Given the description of an element on the screen output the (x, y) to click on. 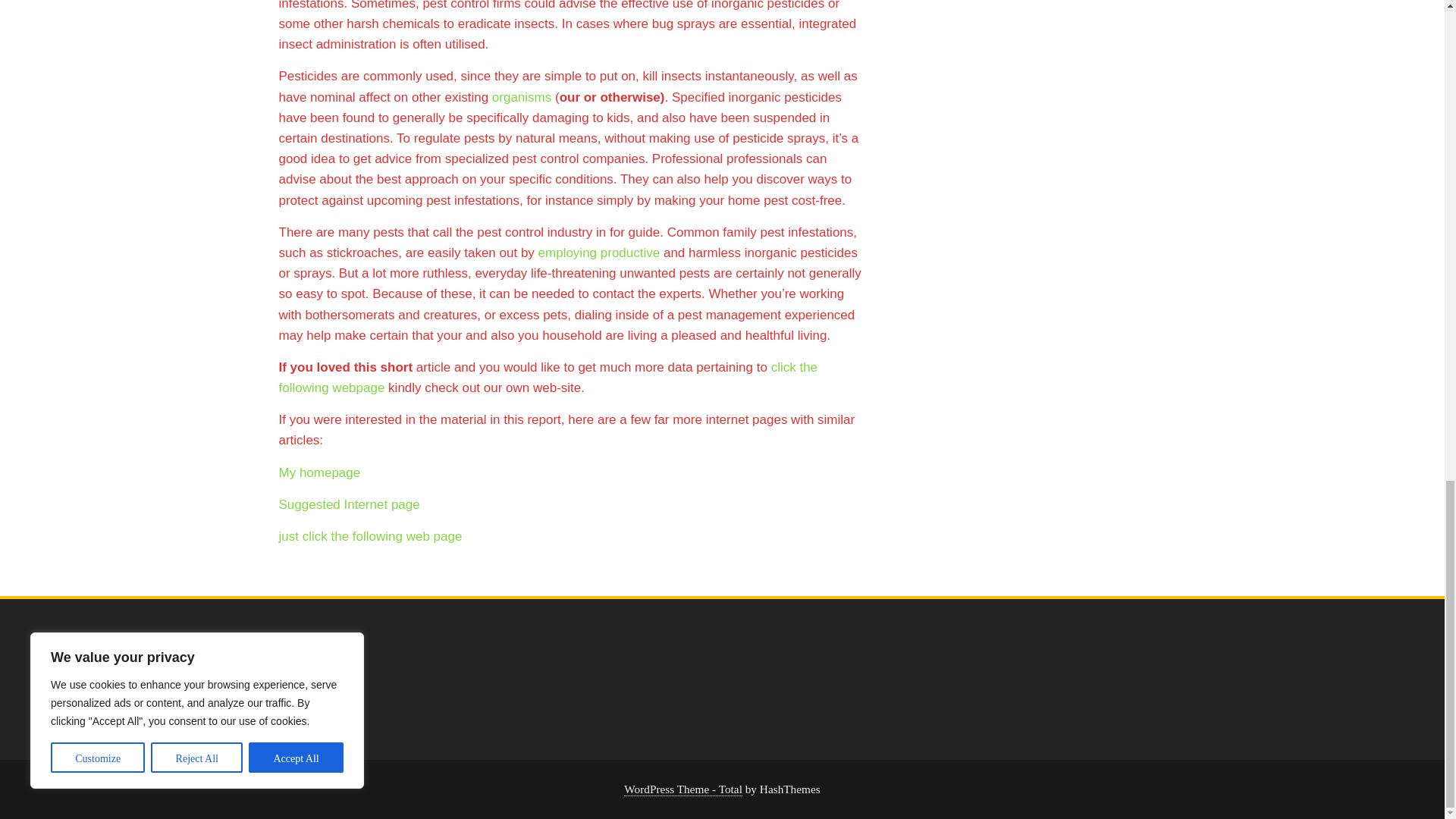
Suggested Internet page (349, 504)
organisms (521, 97)
just click the following web page (371, 536)
My homepage (320, 472)
employing productive (599, 252)
click the following webpage (548, 377)
